Given the description of an element on the screen output the (x, y) to click on. 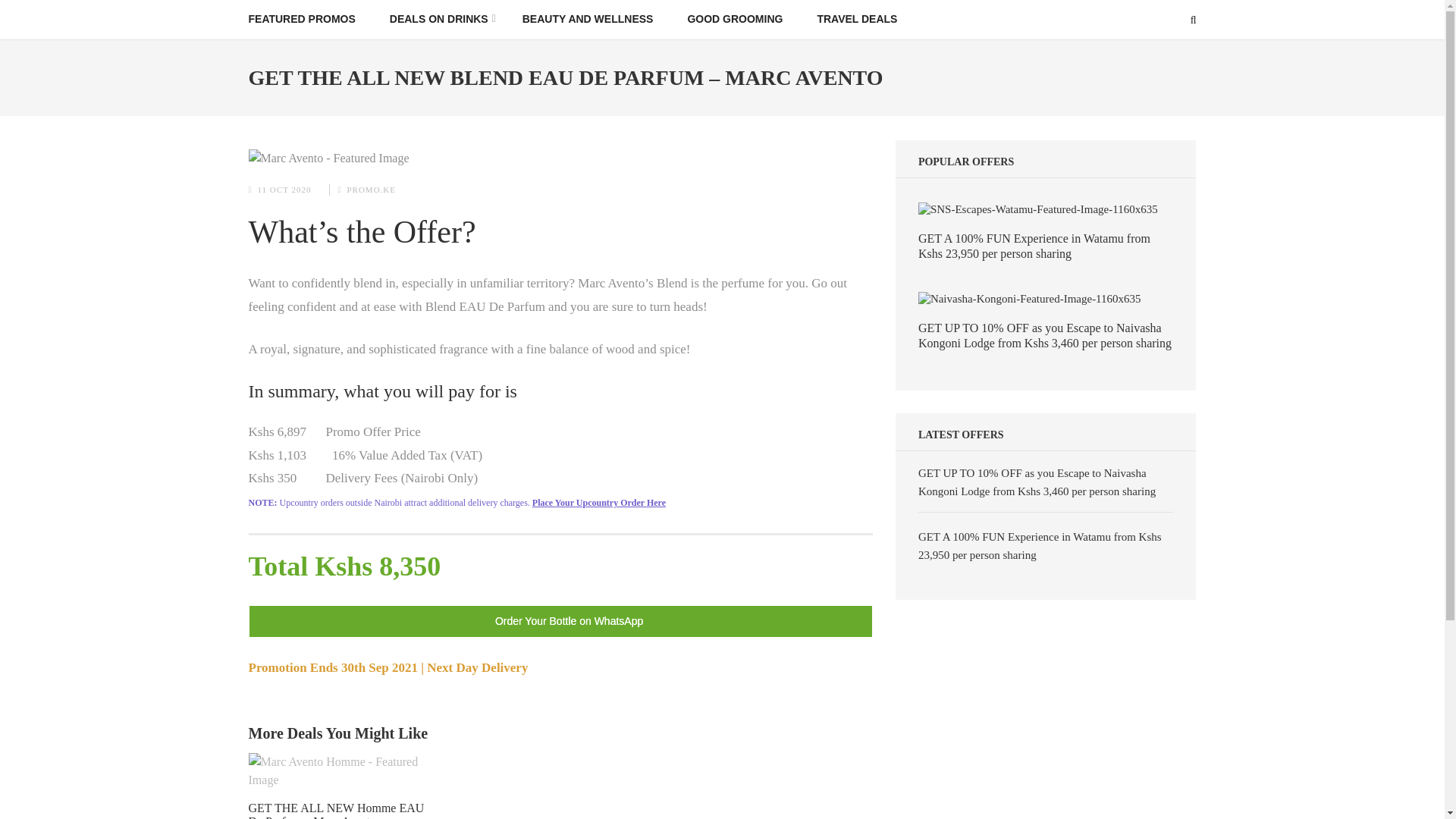
PROMO.KE (371, 189)
11 OCT 2020 (284, 189)
  Order Your Bottle on WhatsApp (560, 621)
FEATURED PROMOS (301, 19)
BEAUTY AND WELLNESS (587, 19)
GOOD GROOMING (735, 19)
DEALS ON DRINKS (438, 19)
TRAVEL DEALS (856, 19)
Place Your Upcountry Order Here (598, 502)
  Order Your Bottle on WhatsApp (560, 620)
